Given the description of an element on the screen output the (x, y) to click on. 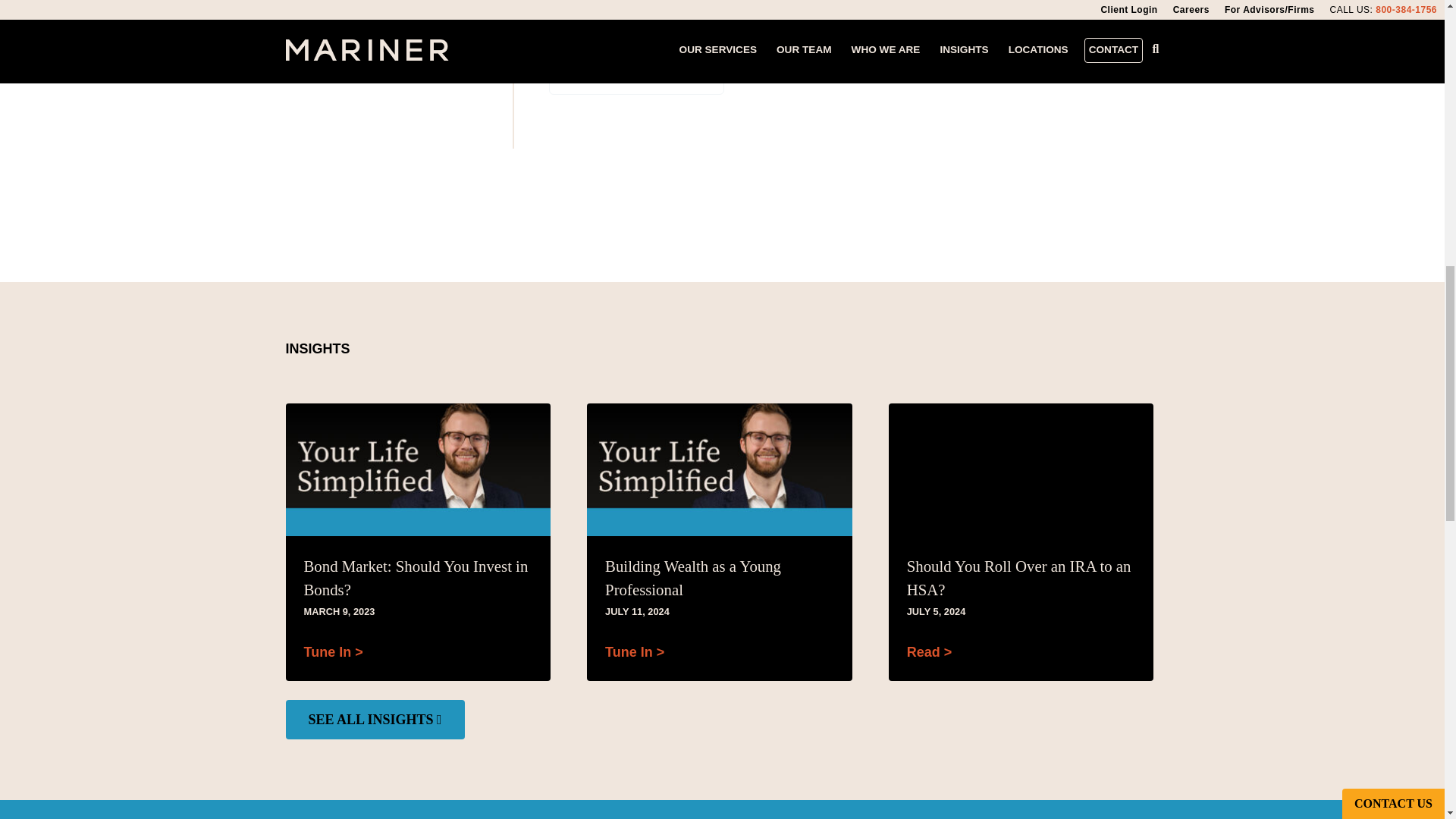
Bond Market: Should You Invest in Bonds? (417, 577)
872-216-9931 (636, 25)
